Given the description of an element on the screen output the (x, y) to click on. 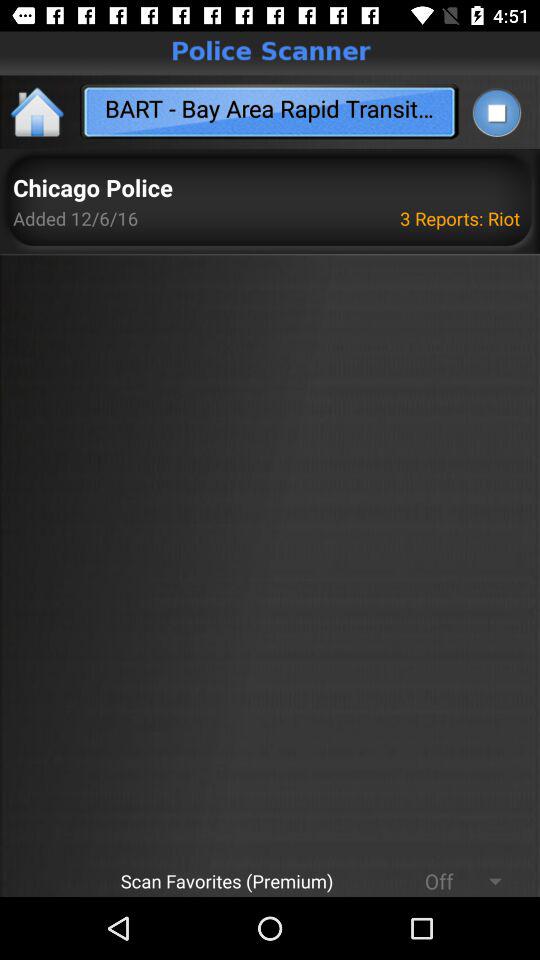
launch the item next to bart bay area icon (496, 111)
